Given the description of an element on the screen output the (x, y) to click on. 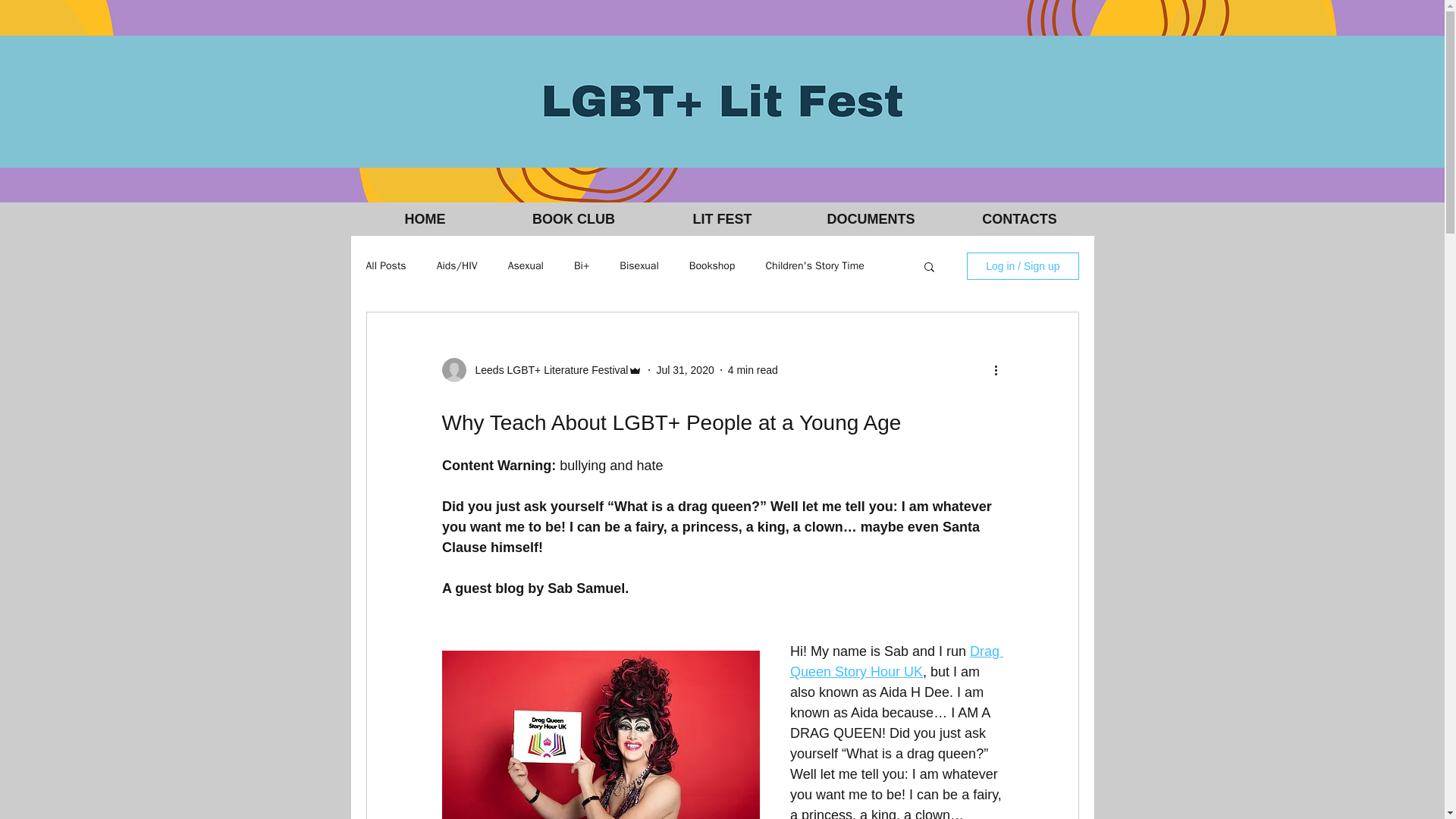
Asexual (525, 265)
HOME (424, 219)
Jul 31, 2020 (684, 369)
Bisexual (639, 265)
4 min read (752, 369)
All Posts (385, 265)
Children's Story Time (814, 265)
Bookshop (711, 265)
CONTACTS (1018, 219)
